Given the description of an element on the screen output the (x, y) to click on. 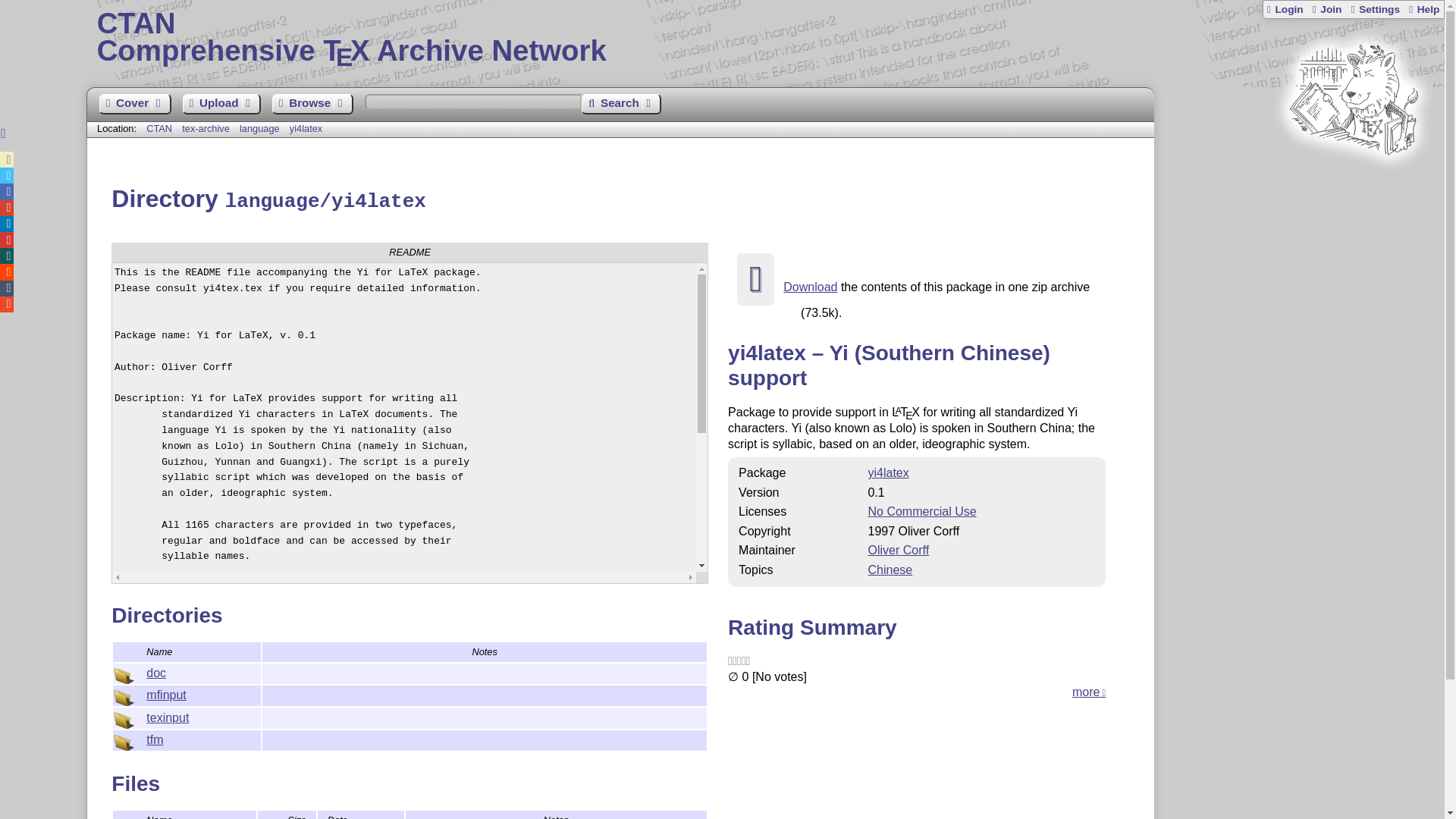
Join (1325, 8)
Cover (134, 104)
Help (1423, 8)
Login with your personal account (1284, 8)
yi4latex (305, 128)
Upload (221, 104)
Adjust the appearance to your taste (1374, 8)
tfm (155, 739)
CTAN lion drawing by Duane Bibby (1353, 183)
CTAN (159, 128)
